Given the description of an element on the screen output the (x, y) to click on. 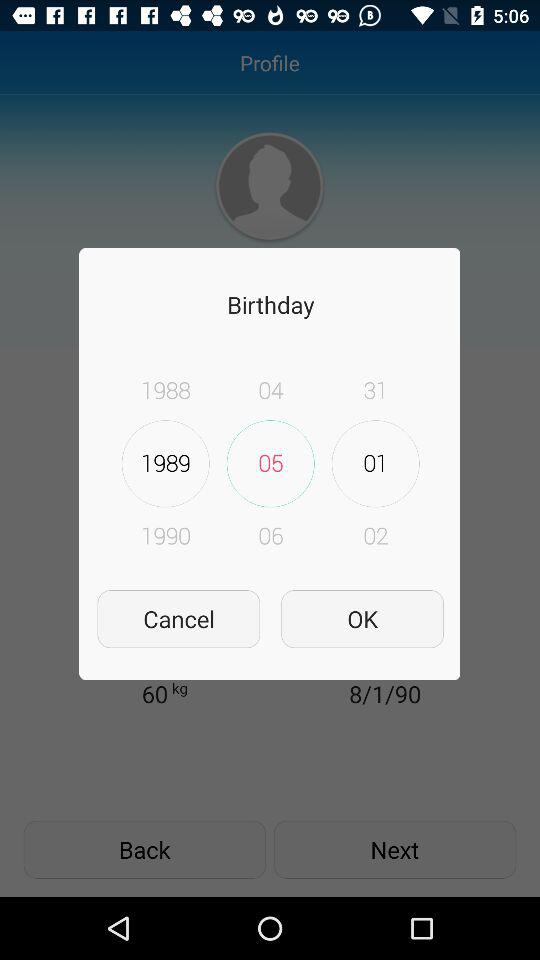
tap item to the left of the ok (178, 618)
